Given the description of an element on the screen output the (x, y) to click on. 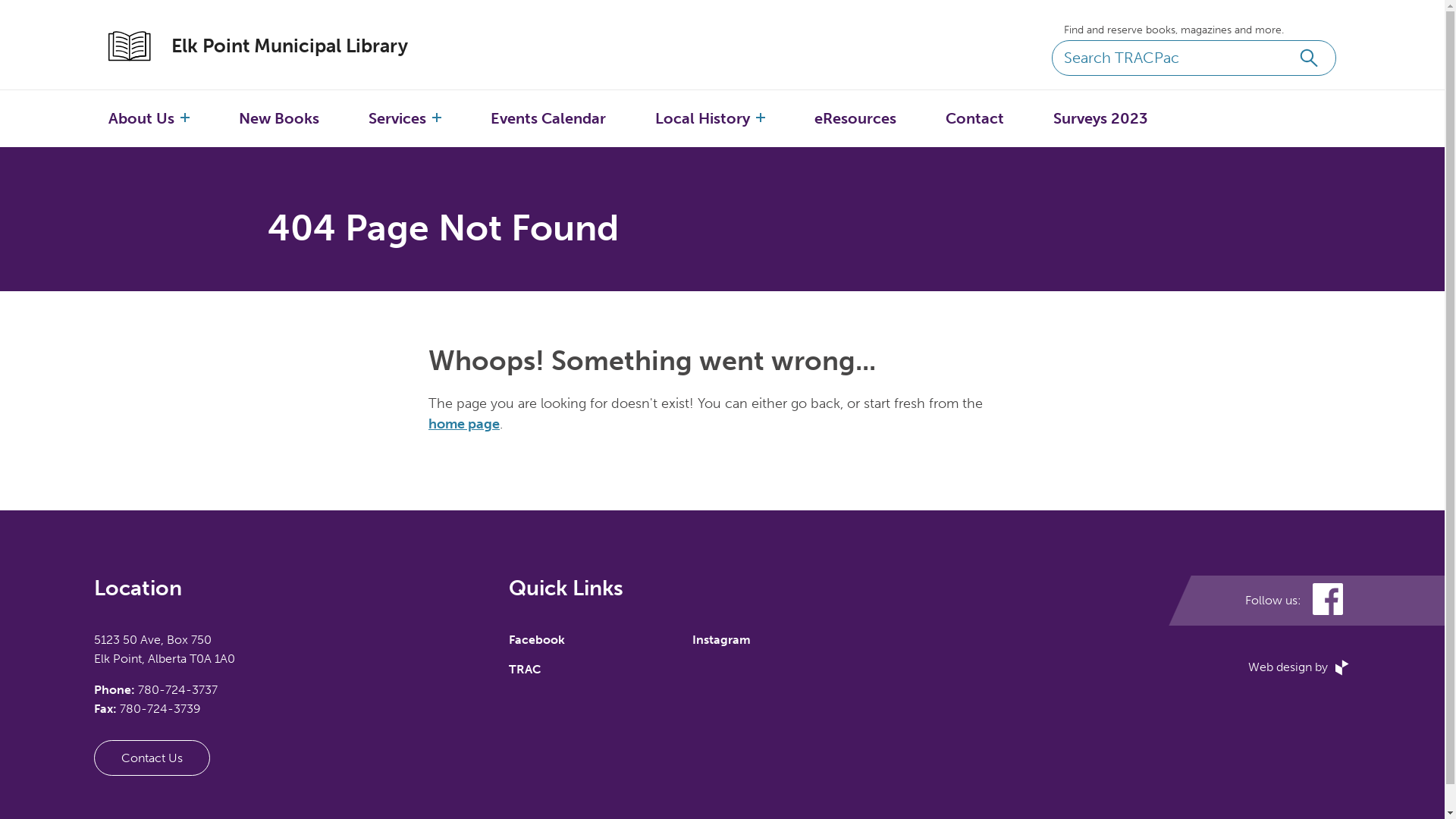
Local History Element type: text (702, 118)
Events Calendar Element type: text (547, 118)
Instagram Element type: text (720, 639)
About Us Element type: text (141, 118)
TRAC Element type: text (523, 669)
Elk Point Municipal Library Element type: text (273, 46)
Services Element type: text (397, 118)
Facebook Element type: text (536, 639)
Web design by Element type: text (1299, 666)
eResources Element type: text (855, 118)
Contact Element type: text (974, 118)
Contact Us Element type: text (152, 757)
New Books Element type: text (278, 118)
Facebook page Element type: hover (1327, 600)
Surveys 2023 Element type: text (1100, 118)
home page Element type: text (463, 423)
